Given the description of an element on the screen output the (x, y) to click on. 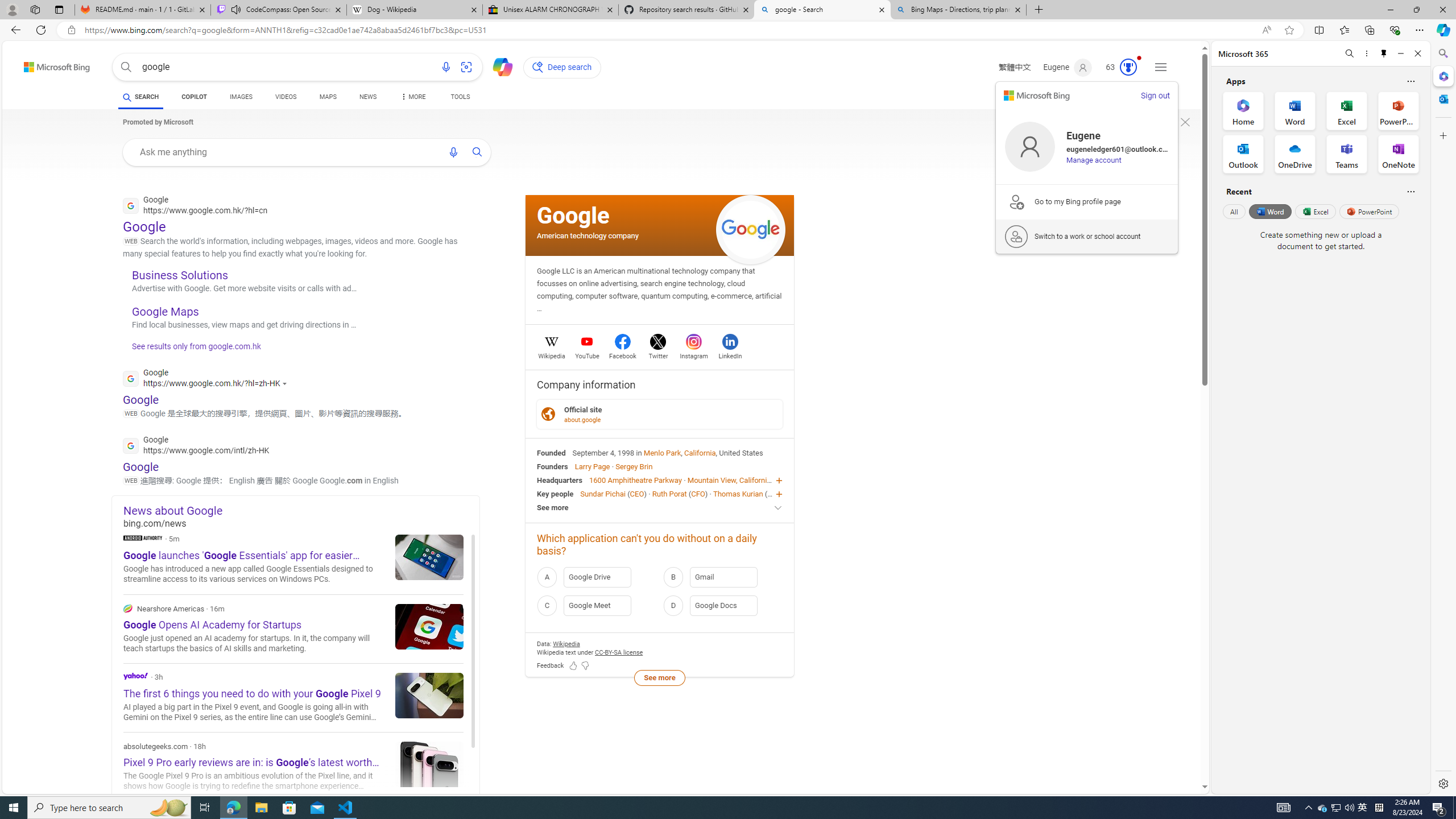
Feedback Dislike (584, 665)
Sergey Brin (633, 465)
More options (1366, 53)
Feedback Like (573, 665)
Eugene (1067, 67)
Business Solutions (180, 274)
Outlook Office App (1243, 154)
Yahoo (135, 675)
Google Opens AI Academy for Startups (428, 626)
American technology company (588, 234)
MORE (412, 98)
Thomas Kurian (736, 492)
